Given the description of an element on the screen output the (x, y) to click on. 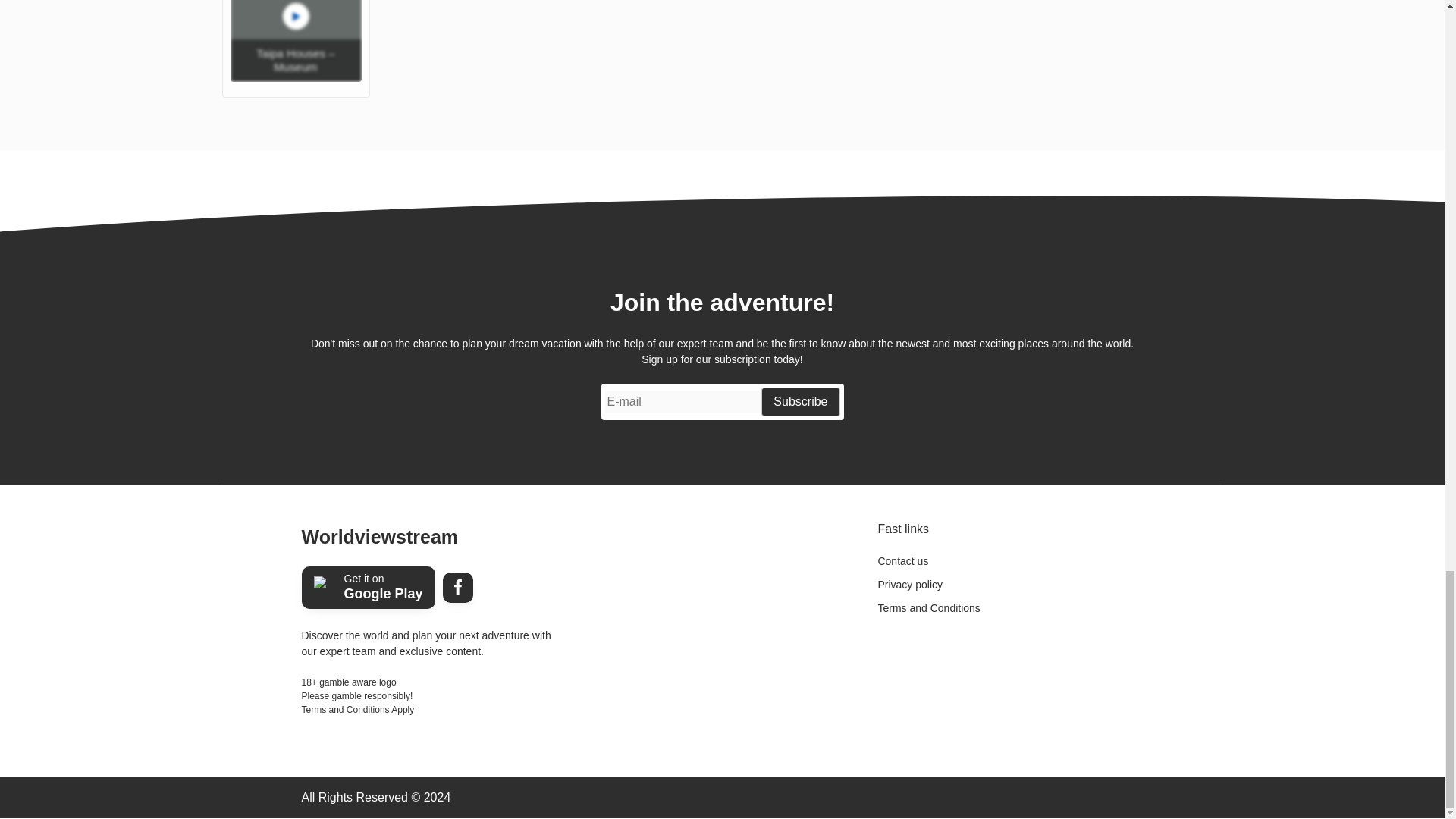
Facebook (457, 587)
Get it on Google Play (368, 587)
